Given the description of an element on the screen output the (x, y) to click on. 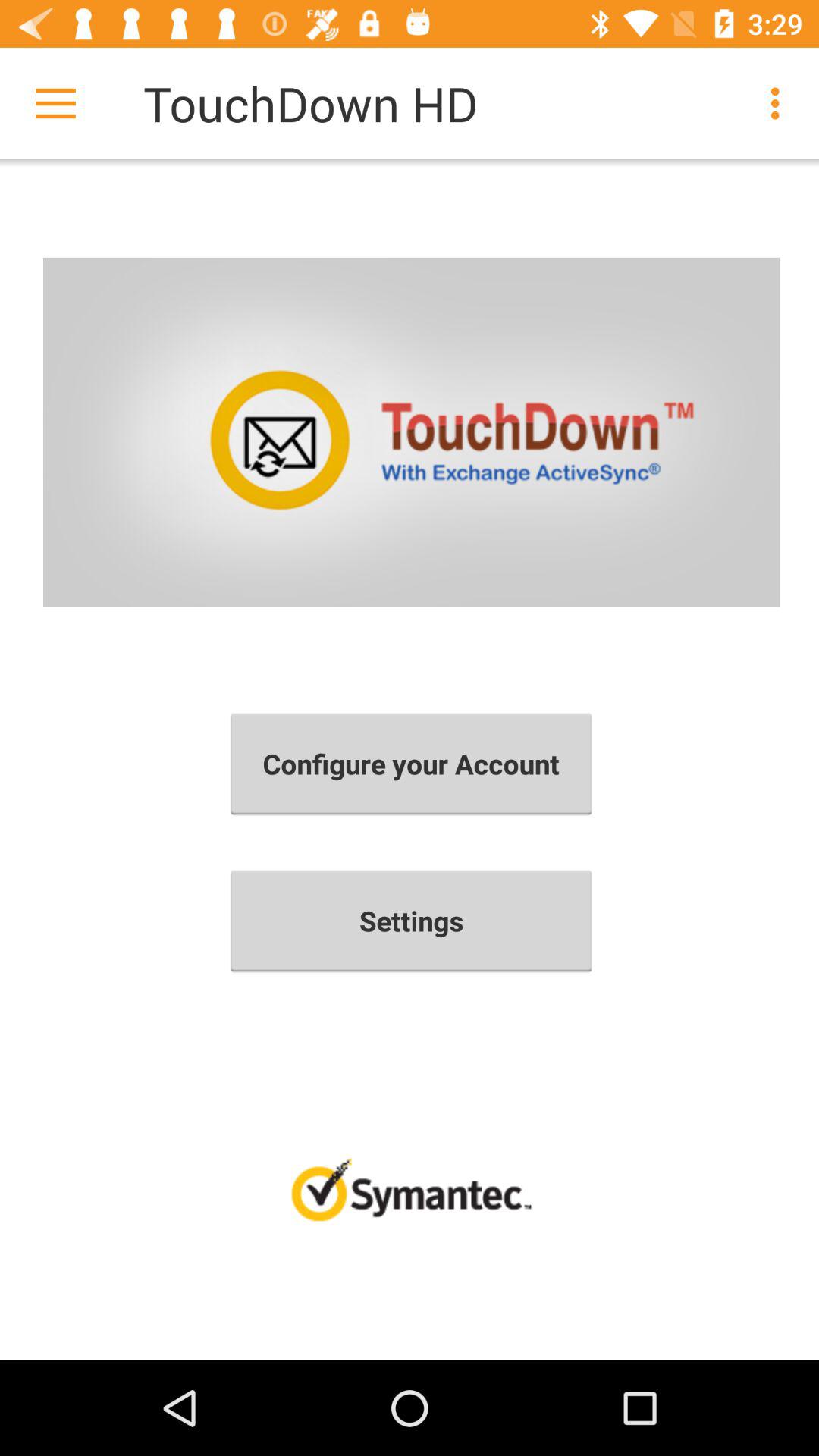
turn off icon to the left of the touchdown hd (55, 103)
